Given the description of an element on the screen output the (x, y) to click on. 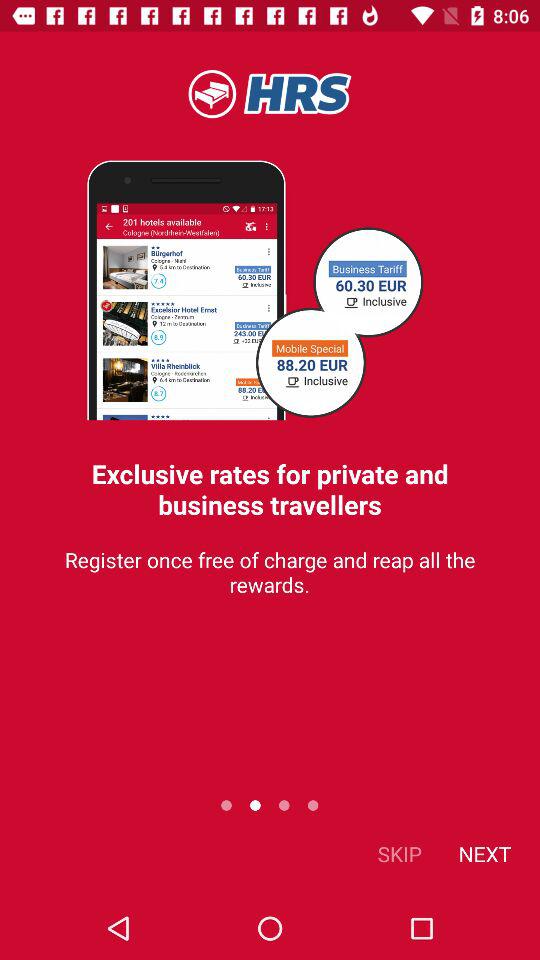
select next item (484, 853)
